Given the description of an element on the screen output the (x, y) to click on. 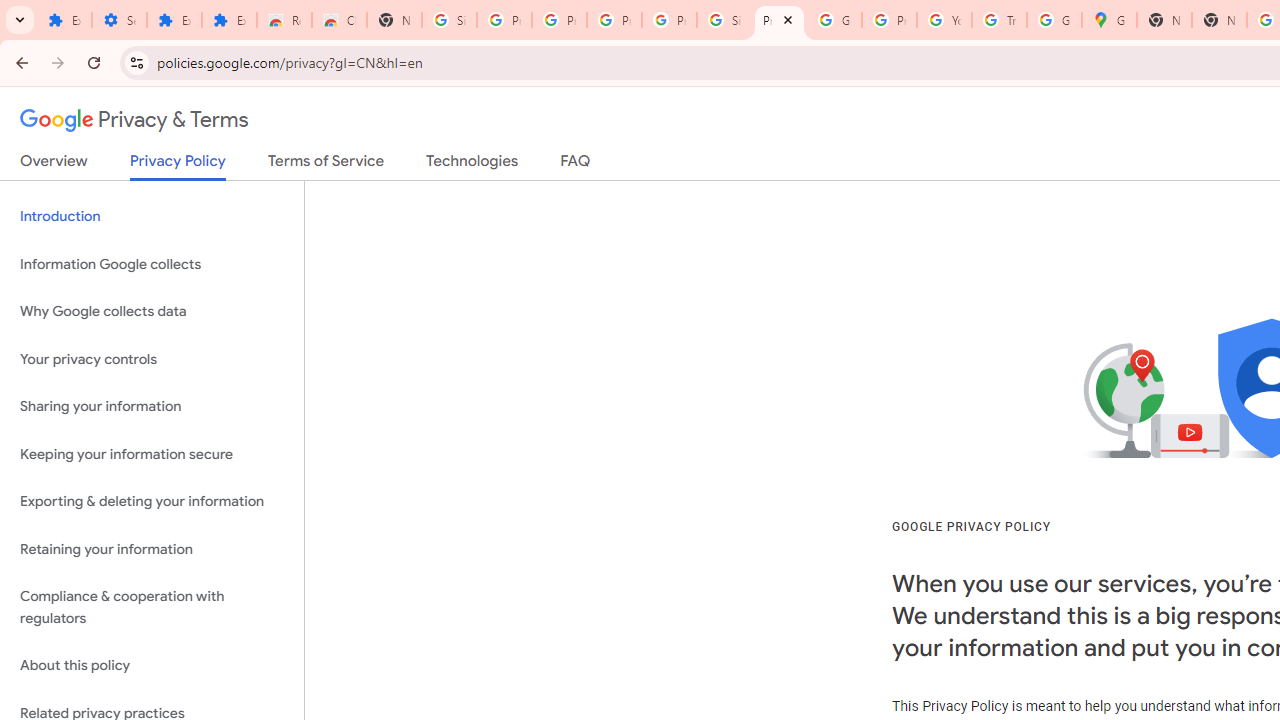
Information Google collects (152, 263)
